Given the description of an element on the screen output the (x, y) to click on. 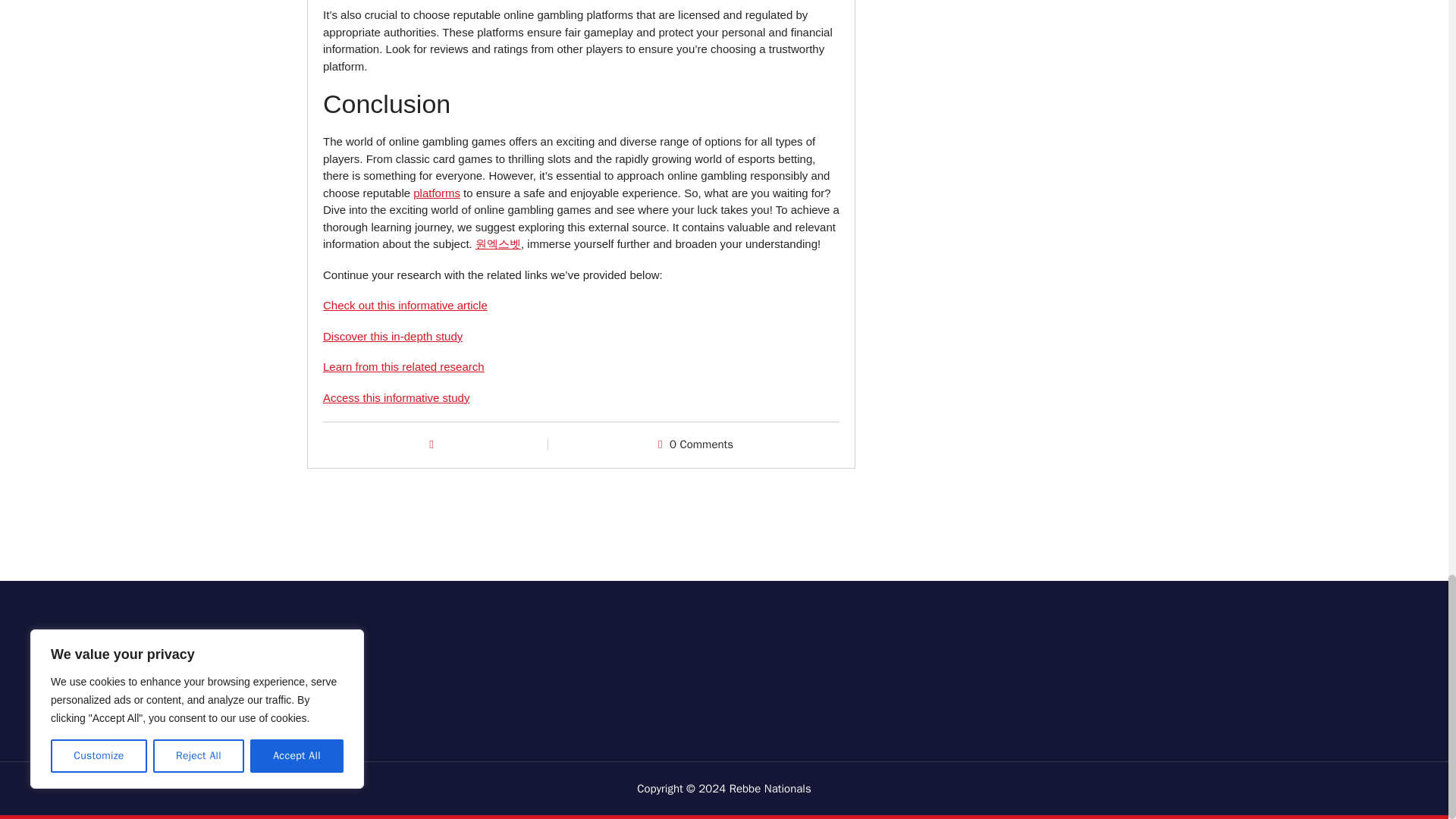
Access this informative study (395, 397)
Learn from this related research (403, 366)
Discover this in-depth study (393, 336)
platforms (436, 192)
Check out this informative article (405, 305)
